Given the description of an element on the screen output the (x, y) to click on. 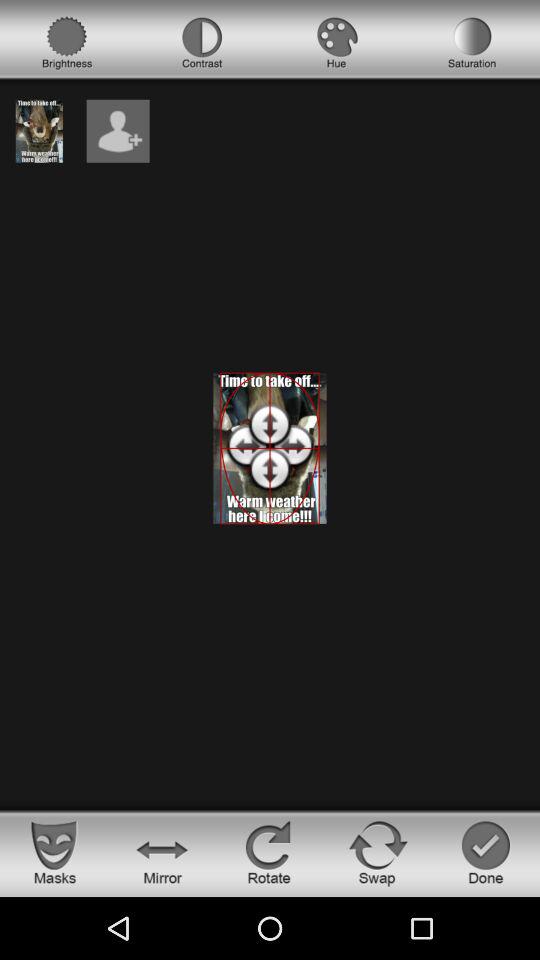
select masks (53, 852)
